Given the description of an element on the screen output the (x, y) to click on. 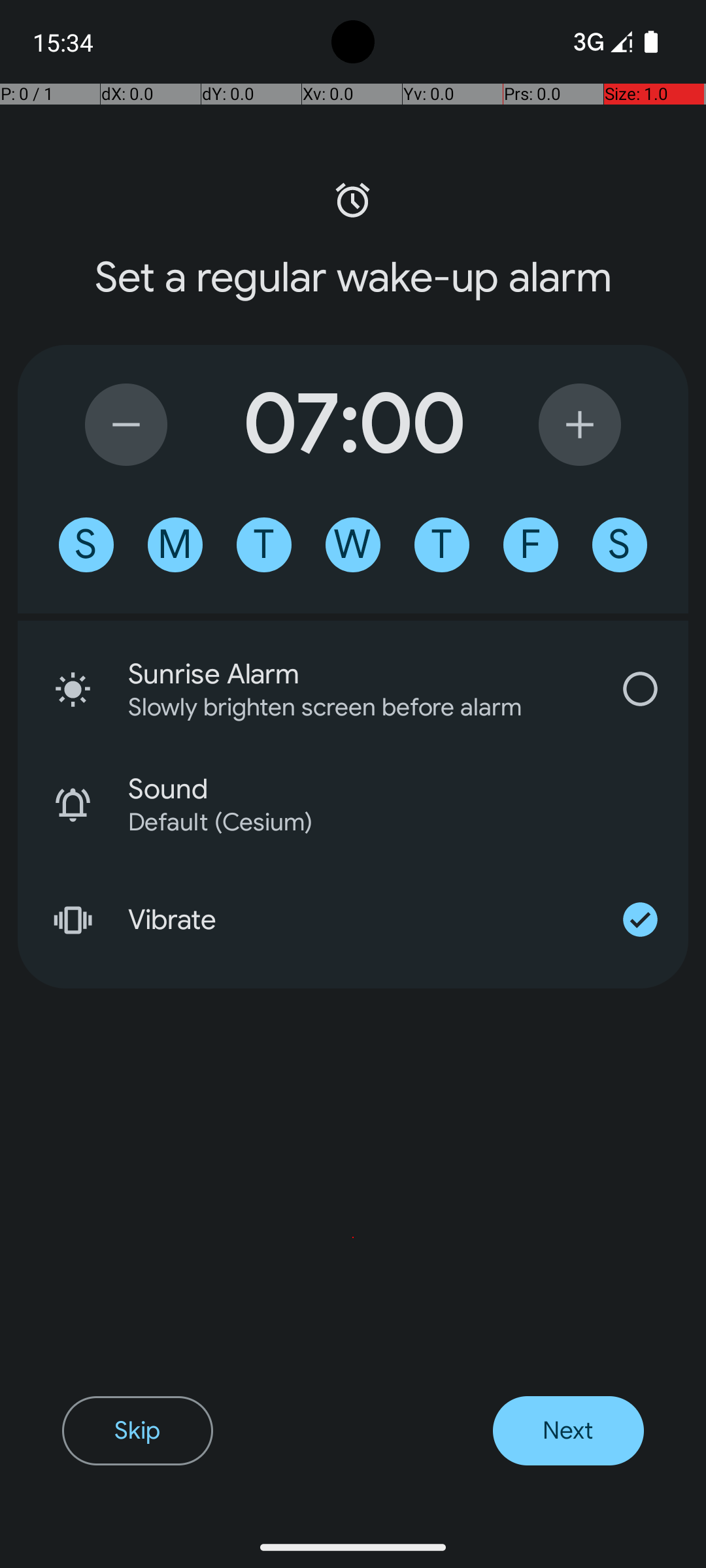
Set a regular wake-up alarm Element type: android.widget.TextView (352, 277)
Fifteen minutes earlier Element type: android.widget.ImageView (125, 424)
07:00 Element type: android.widget.TextView (353, 424)
Fifteen minutes later Element type: android.widget.ImageView (579, 424)
S Element type: android.widget.CheckBox (86, 544)
M Element type: android.widget.CheckBox (175, 544)
T Element type: android.widget.CheckBox (263, 544)
W Element type: android.widget.CheckBox (352, 544)
F Element type: android.widget.CheckBox (530, 544)
Skip Element type: android.widget.Button (137, 1430)
Next Element type: android.widget.Button (567, 1430)
Sunrise Alarm Element type: android.widget.TextView (360, 673)
Slowly brighten screen before alarm Element type: android.widget.TextView (342, 706)
Sound Element type: android.widget.TextView (408, 788)
Default (Cesium) Element type: android.widget.TextView (390, 821)
Vibrate Element type: android.widget.TextView (360, 919)
